Given the description of an element on the screen output the (x, y) to click on. 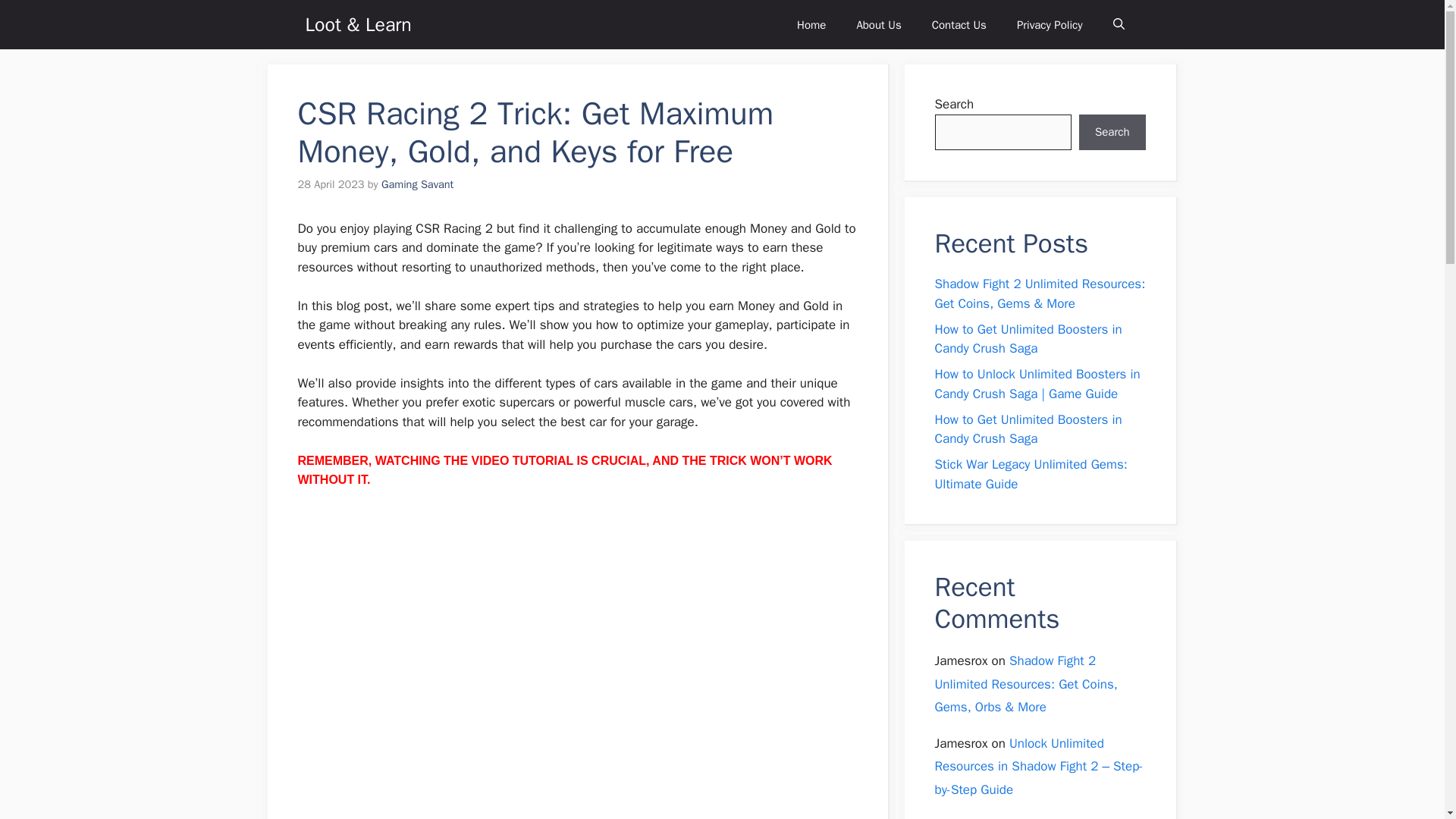
Privacy Policy (1049, 23)
Home (811, 23)
Gaming Savant (416, 183)
About Us (878, 23)
Contact Us (959, 23)
View all posts by Gaming Savant (416, 183)
